Given the description of an element on the screen output the (x, y) to click on. 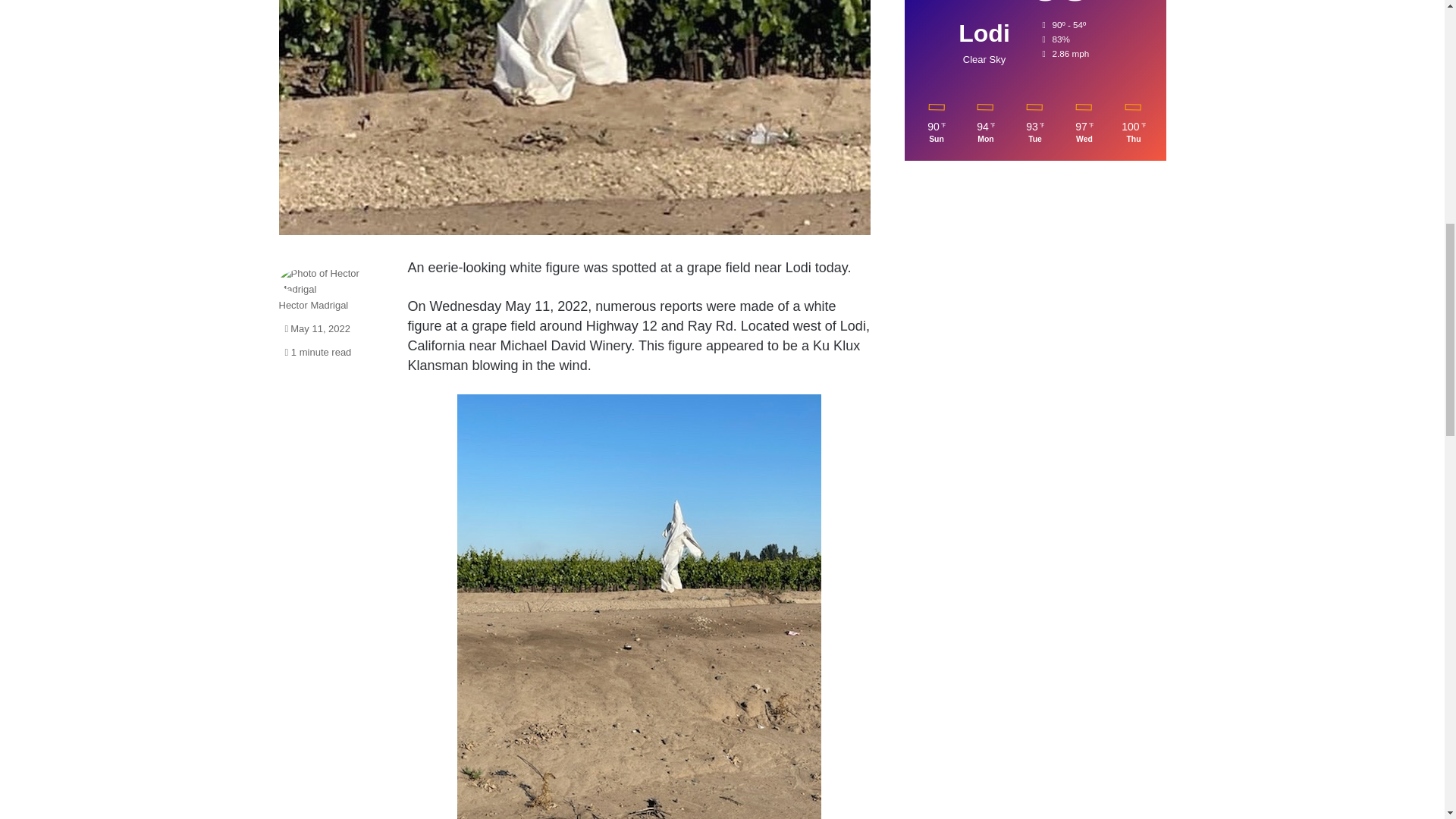
Hector Madrigal (314, 305)
Hector Madrigal (314, 305)
